Given the description of an element on the screen output the (x, y) to click on. 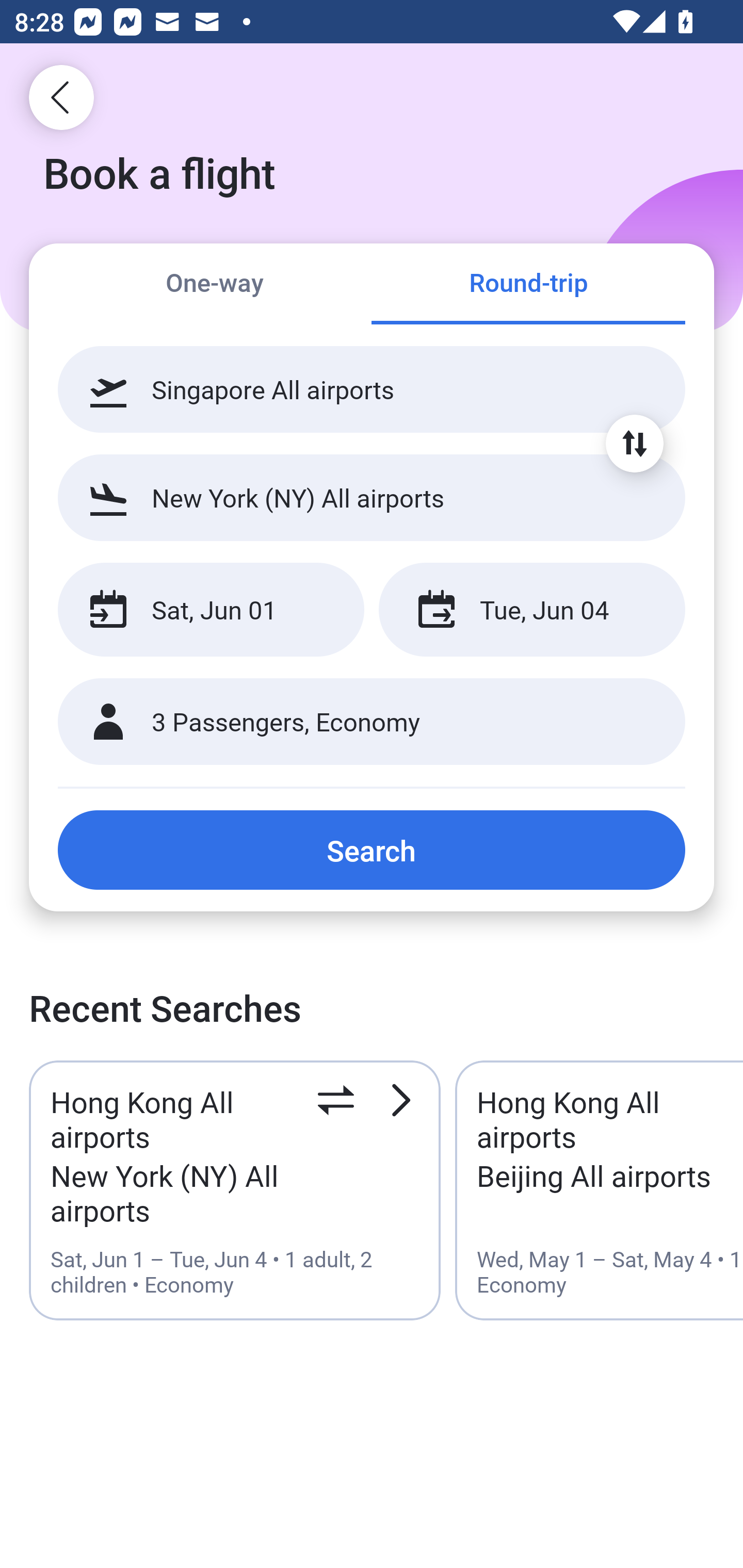
One-way (214, 284)
Singapore All airports (371, 389)
New York (NY) All airports (371, 497)
Sat, Jun 01 (210, 609)
Tue, Jun 04 (531, 609)
3 Passengers, Economy (371, 721)
Search (371, 849)
